Given the description of an element on the screen output the (x, y) to click on. 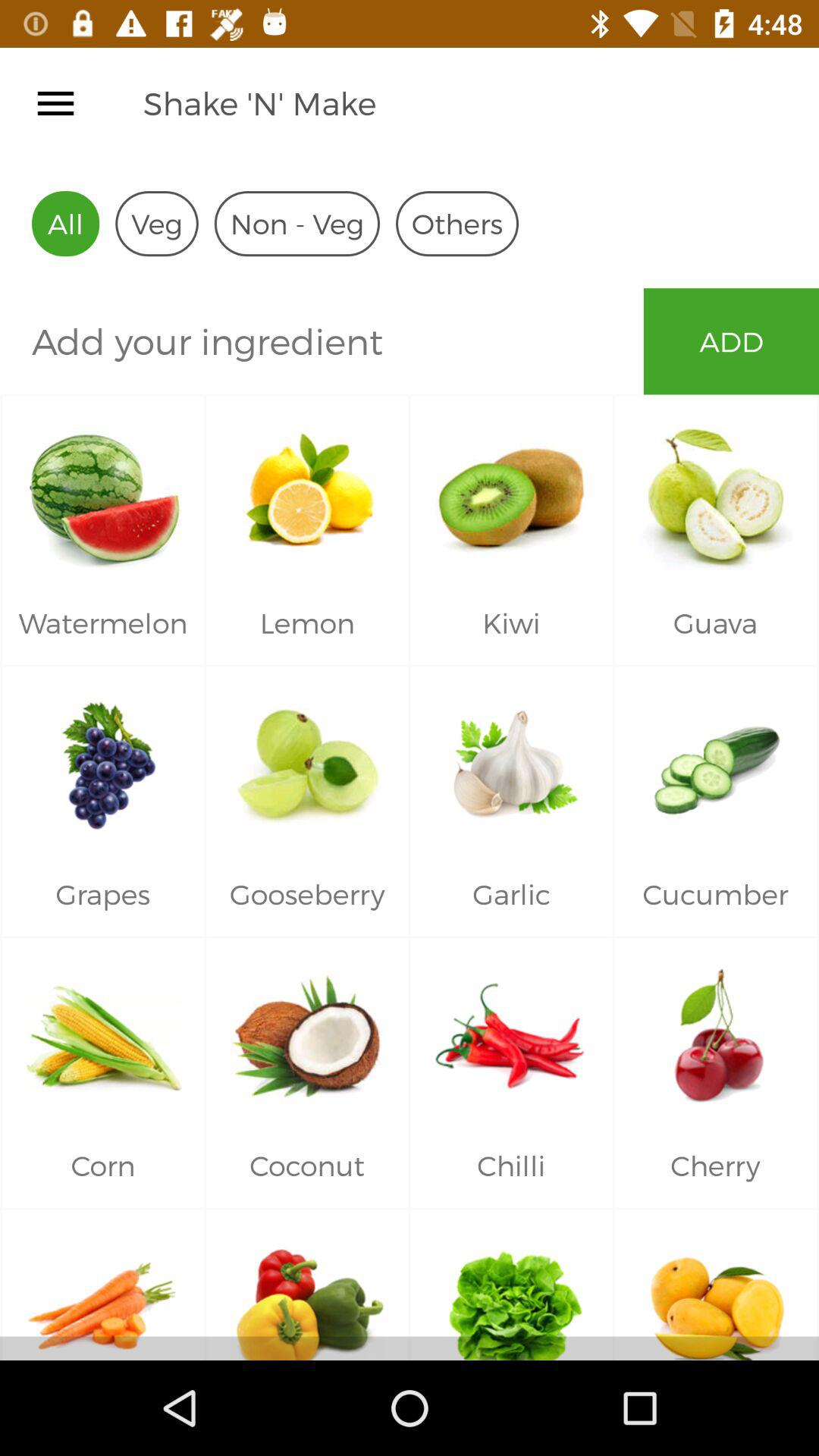
toggle menu (55, 103)
